Given the description of an element on the screen output the (x, y) to click on. 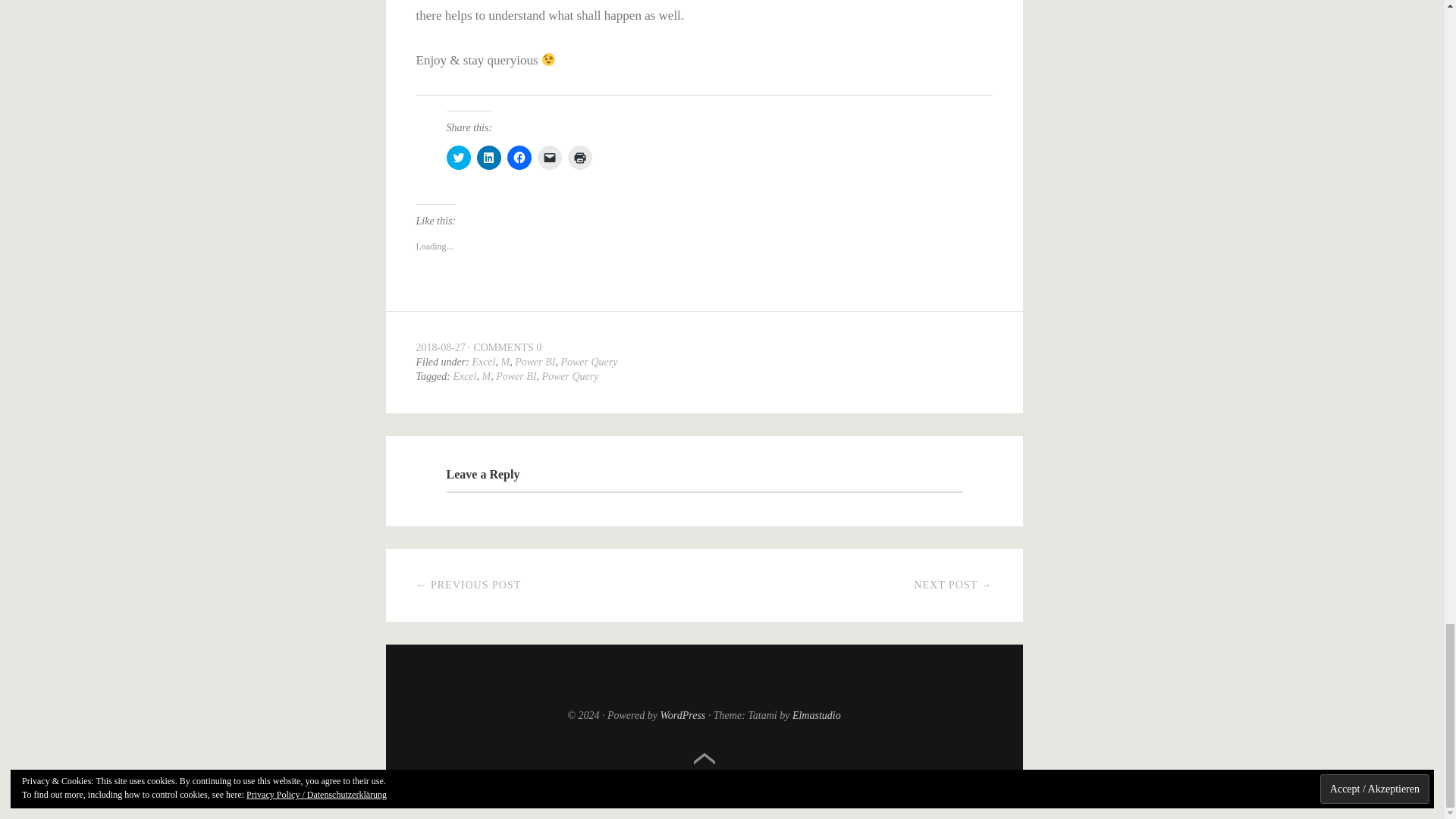
Click to share on Twitter (457, 157)
Top (704, 758)
Semantic Personal Publishing Platform (681, 715)
Click to email a link to a friend (548, 157)
Click to print (579, 157)
Click to share on LinkedIn (488, 157)
Elmastudio WordPress Themes (816, 715)
Click to share on Facebook (518, 157)
